Given the description of an element on the screen output the (x, y) to click on. 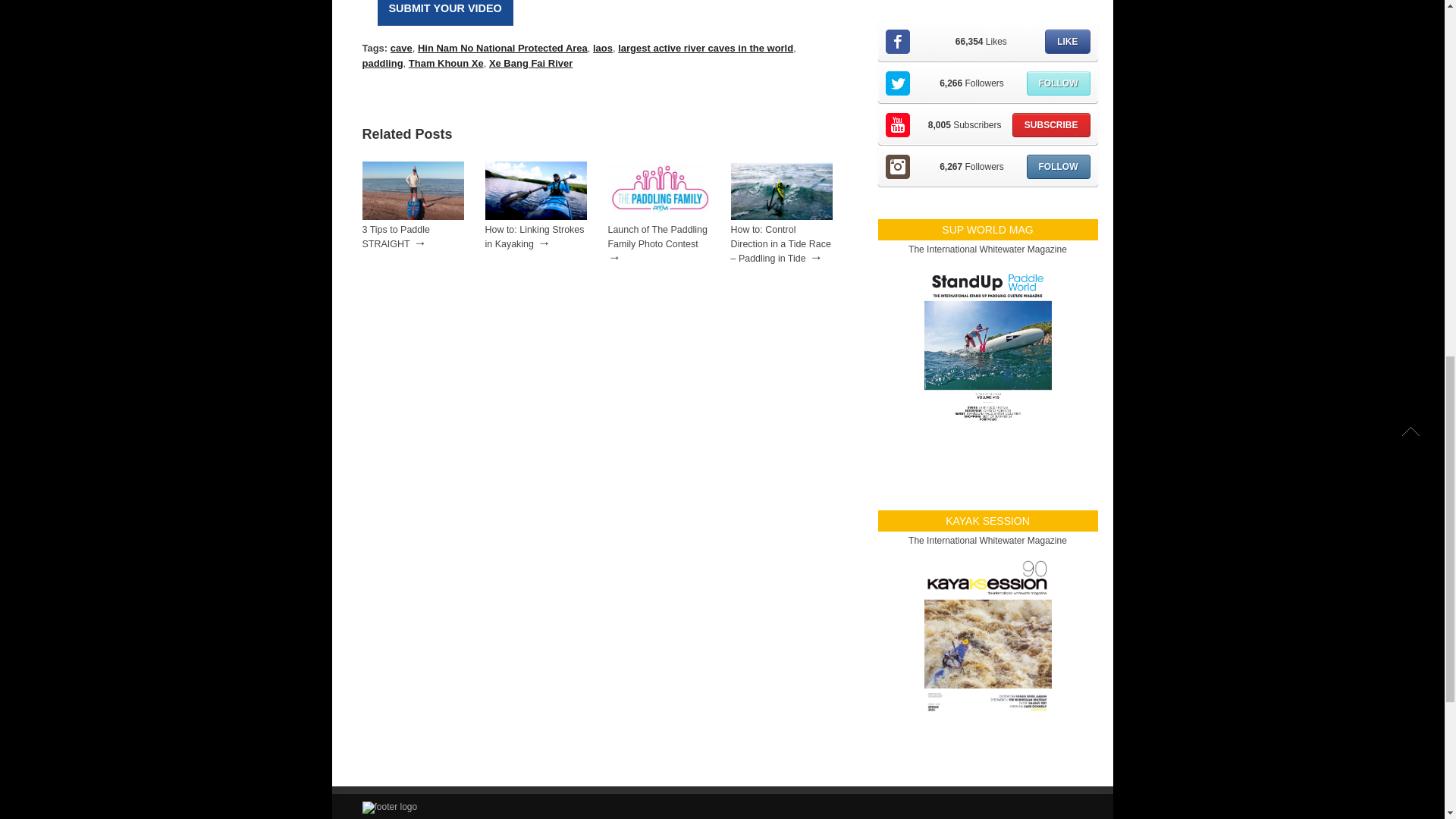
Launch of The Paddling Family Photo Contest (659, 216)
Hin Nam No National Protected Area (502, 48)
3 Tips to Paddle STRAIGHT (395, 236)
largest active river caves in the world (705, 48)
How to: Linking Strokes in Kayaking (534, 236)
Xe Bang Fai River (530, 62)
How to: Linking Strokes in Kayaking (535, 216)
SUBMIT YOUR VIDEO (445, 12)
laos (602, 48)
How to: Linking Strokes in Kayaking (534, 236)
